Given the description of an element on the screen output the (x, y) to click on. 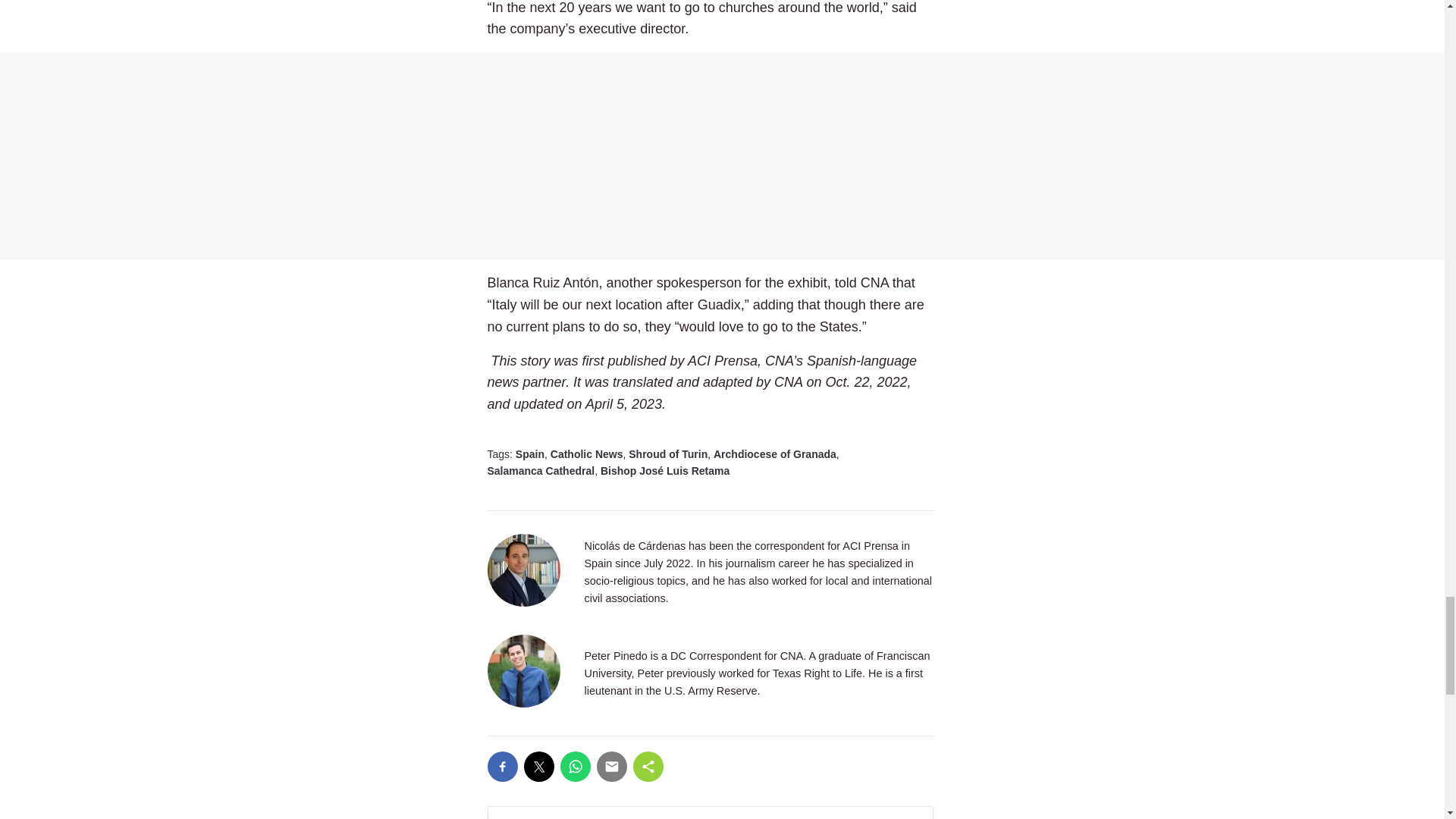
3rd party ad content (721, 155)
